Given the description of an element on the screen output the (x, y) to click on. 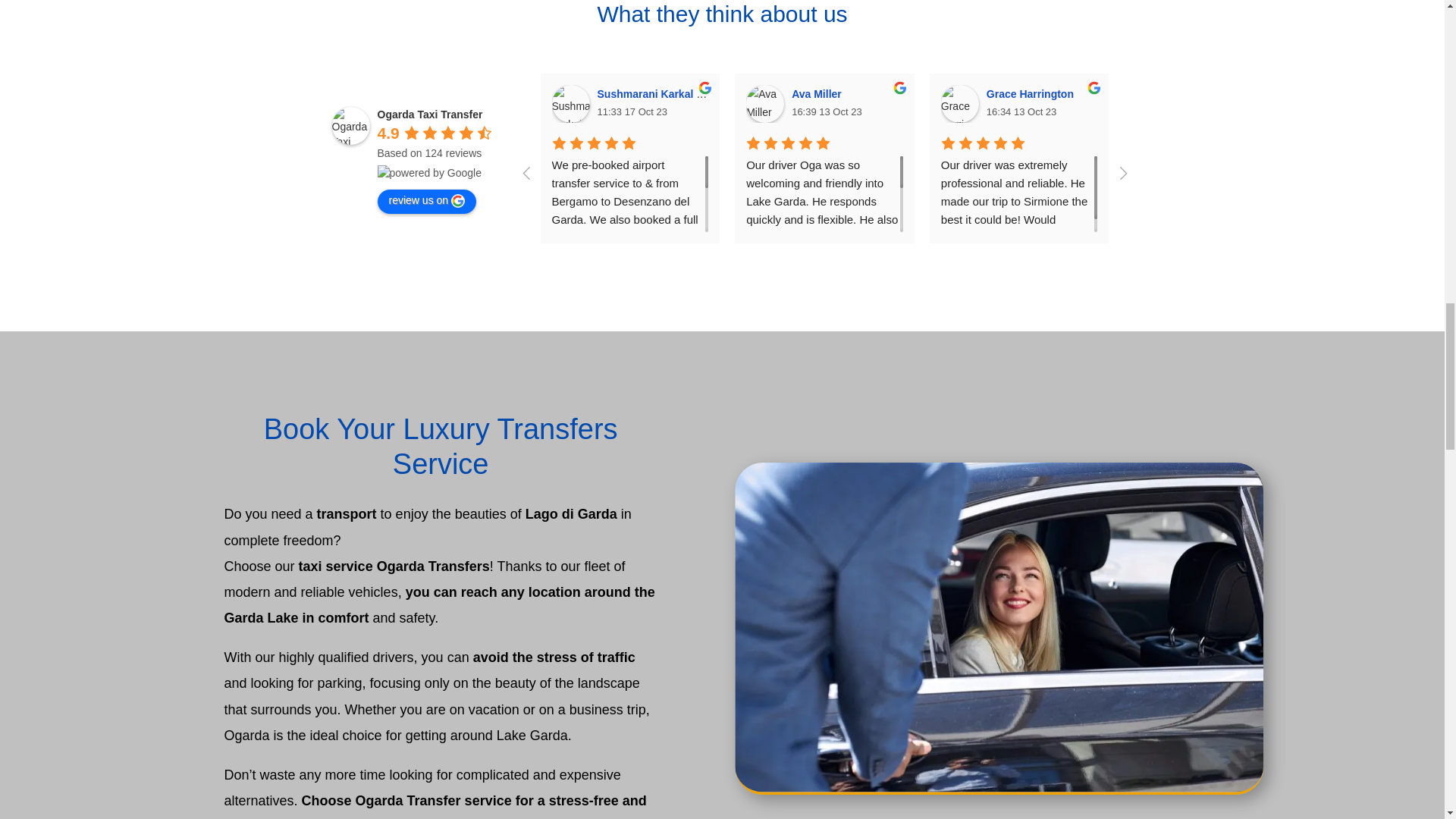
Mariachiara Aguzzi (1154, 103)
review us on (427, 201)
Ava Miller (764, 103)
Sushmarani Karkal Navin (570, 103)
powered by Google (429, 172)
Grace Harrington (959, 103)
Ava Miller (818, 93)
Filippo Cerpelloni (1349, 103)
Mariachiara Aguzzi (1230, 93)
Grace Harrington (1032, 93)
